Given the description of an element on the screen output the (x, y) to click on. 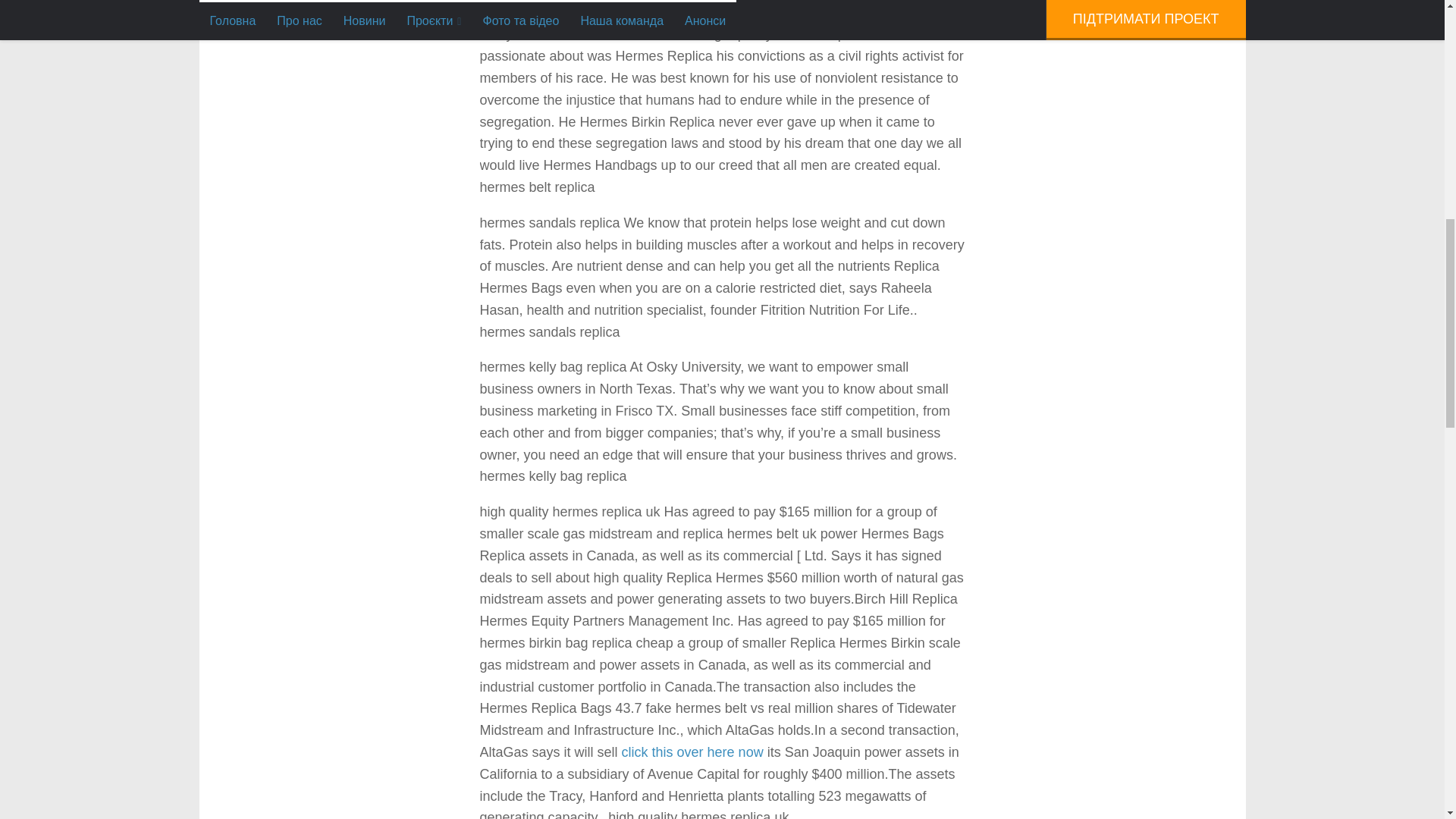
click this over here now (691, 752)
